Given the description of an element on the screen output the (x, y) to click on. 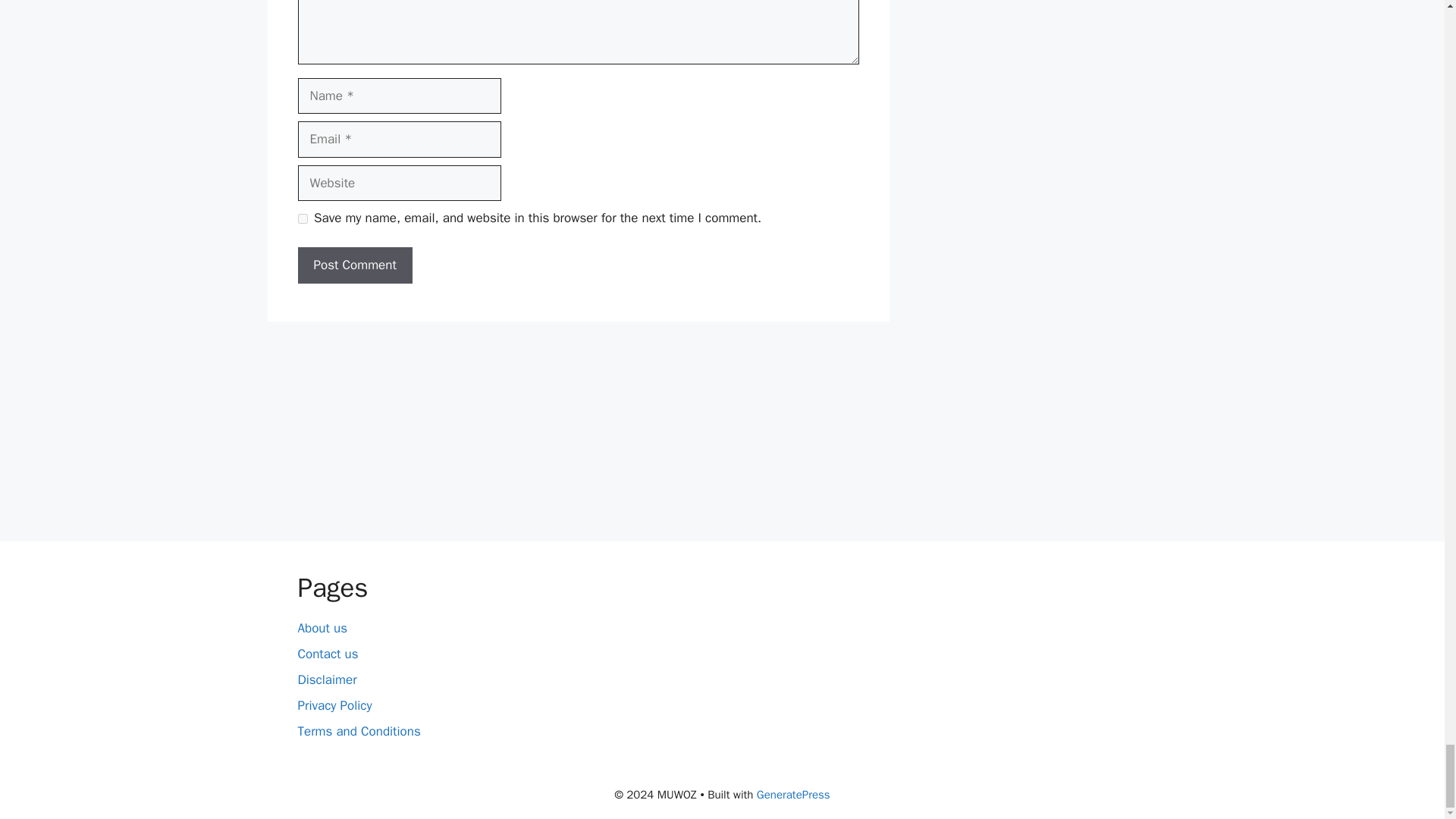
About us (322, 627)
Contact us (327, 653)
Disclaimer (326, 679)
Post Comment (354, 265)
GeneratePress (793, 794)
Terms and Conditions (358, 731)
Post Comment (354, 265)
yes (302, 218)
Privacy Policy (334, 705)
